Given the description of an element on the screen output the (x, y) to click on. 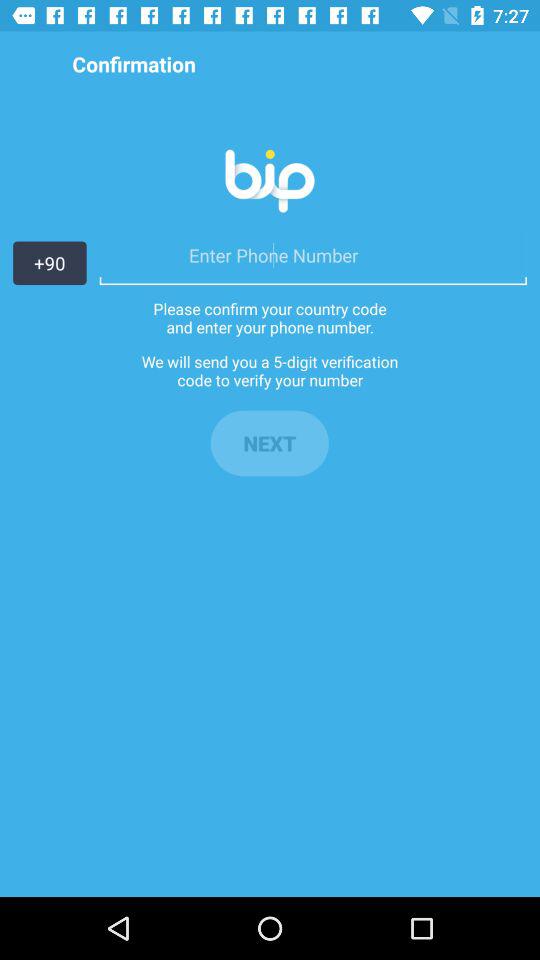
enter phone number (312, 255)
